Given the description of an element on the screen output the (x, y) to click on. 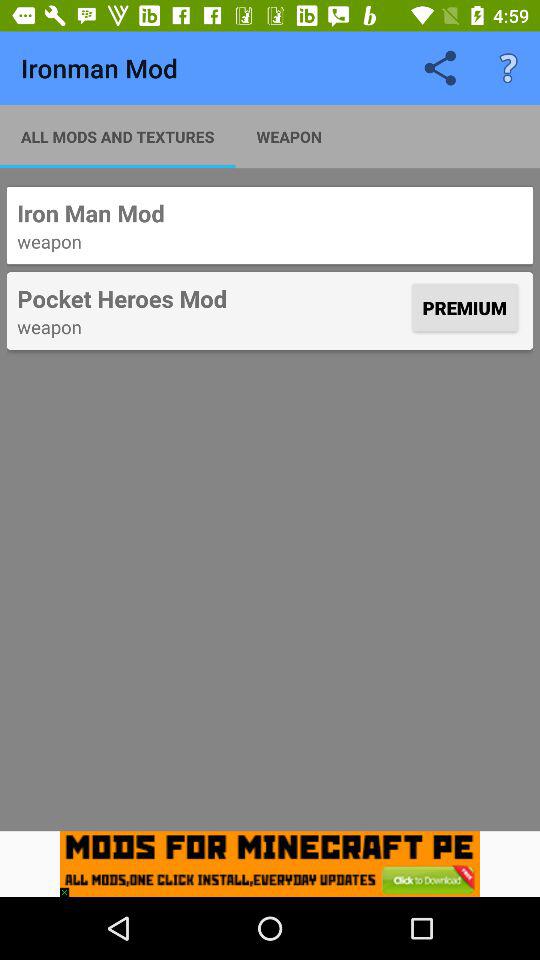
turn on the item next to weapon item (117, 136)
